Given the description of an element on the screen output the (x, y) to click on. 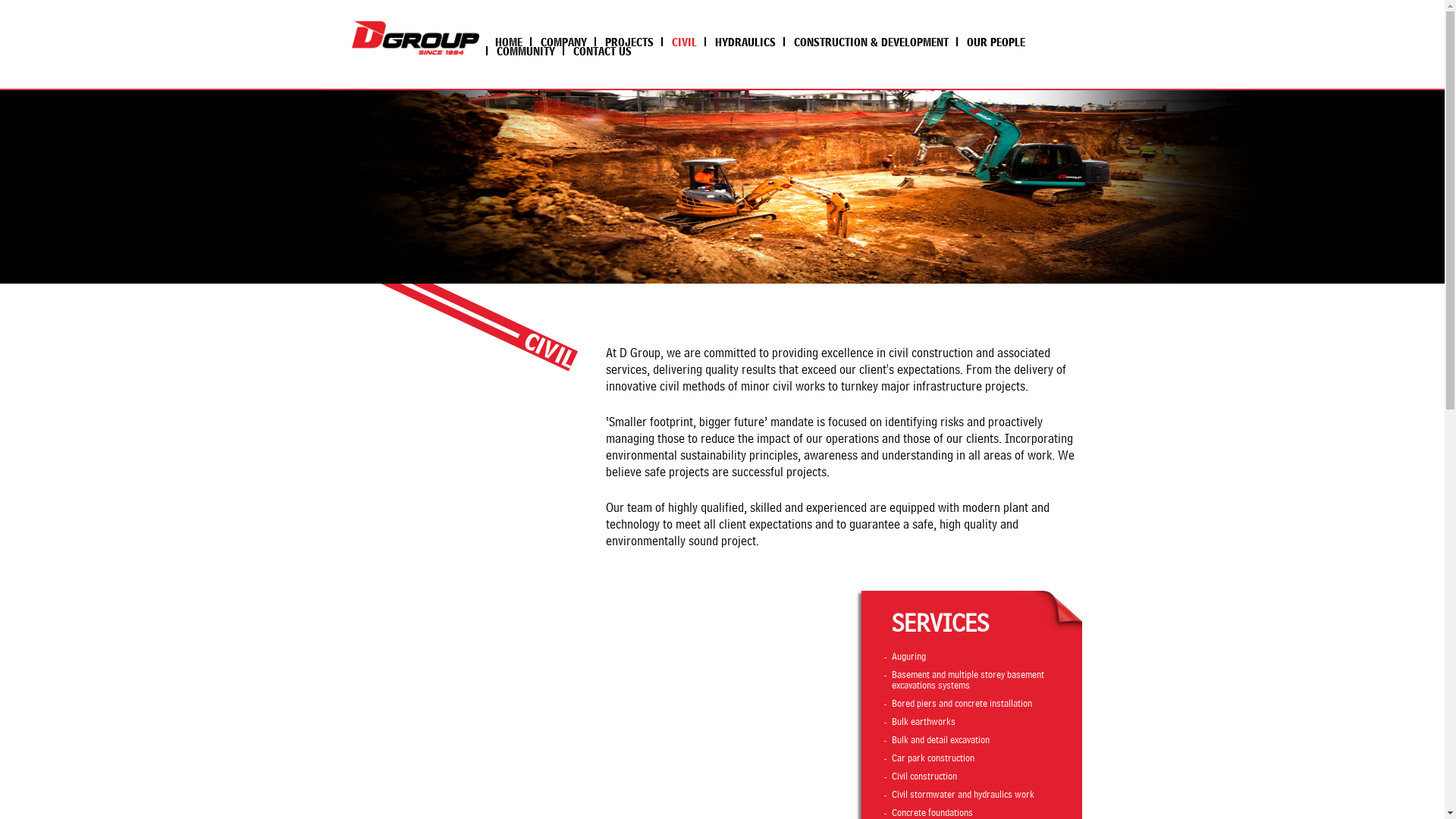
CONTACT US Element type: text (601, 50)
CIVIL Element type: text (683, 41)
PROJECTS Element type: text (628, 41)
COMPANY Element type: text (562, 41)
Skip to main content Element type: text (43, 0)
HYDRAULICS Element type: text (743, 41)
HOME Element type: text (507, 41)
OUR PEOPLE Element type: text (994, 41)
COMMUNITY Element type: text (524, 50)
CONSTRUCTION & DEVELOPMENT Element type: text (869, 41)
Home Element type: hover (414, 37)
